Given the description of an element on the screen output the (x, y) to click on. 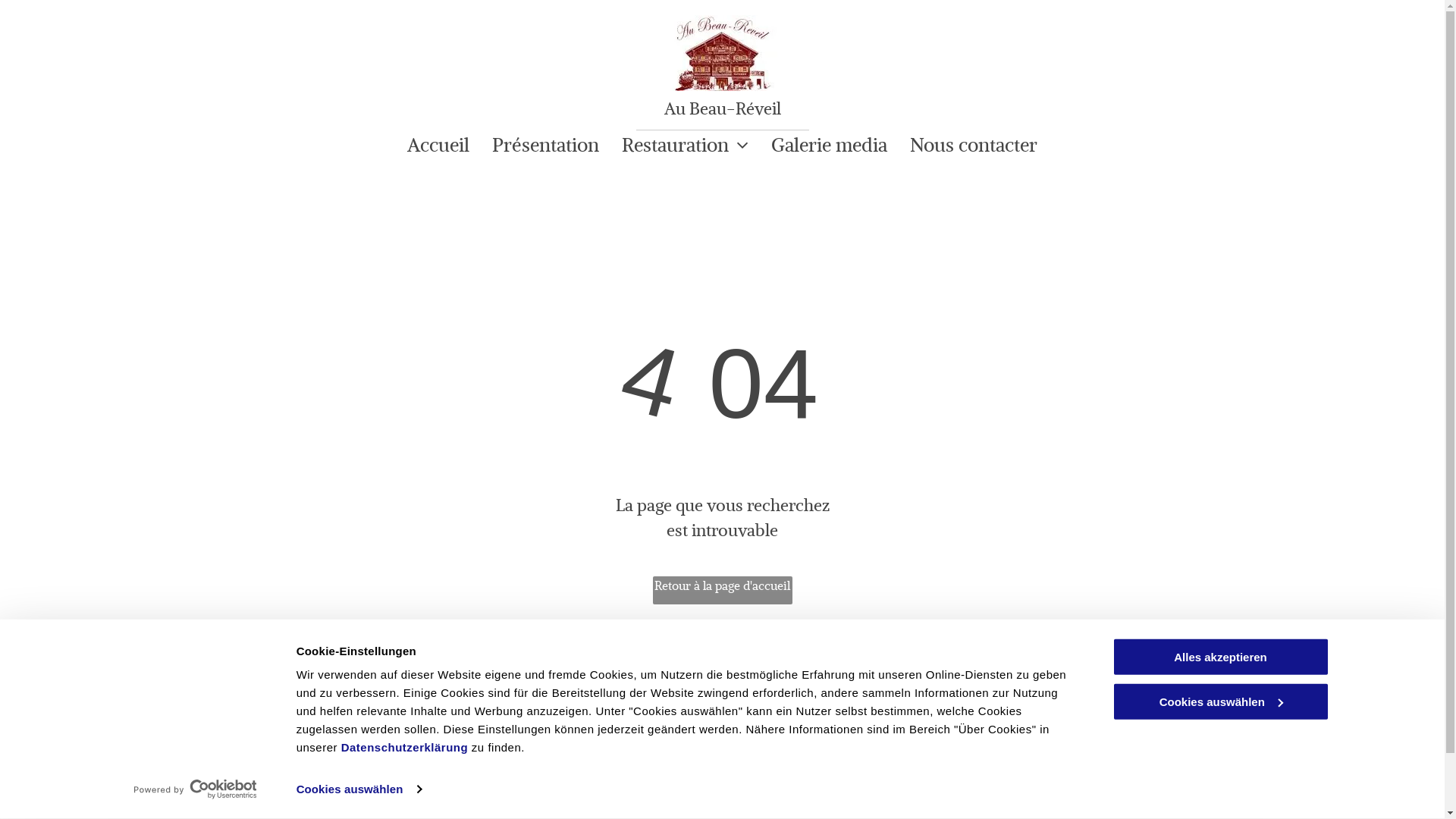
Restauration Element type: text (684, 144)
Nous contacter Element type: text (973, 144)
Alles akzeptieren Element type: text (1219, 656)
024 477 11 84 Element type: text (543, 729)
Accueil Element type: text (438, 144)
Galerie media Element type: text (829, 144)
aubeaureveil@gmail.com Element type: text (573, 766)
